Given the description of an element on the screen output the (x, y) to click on. 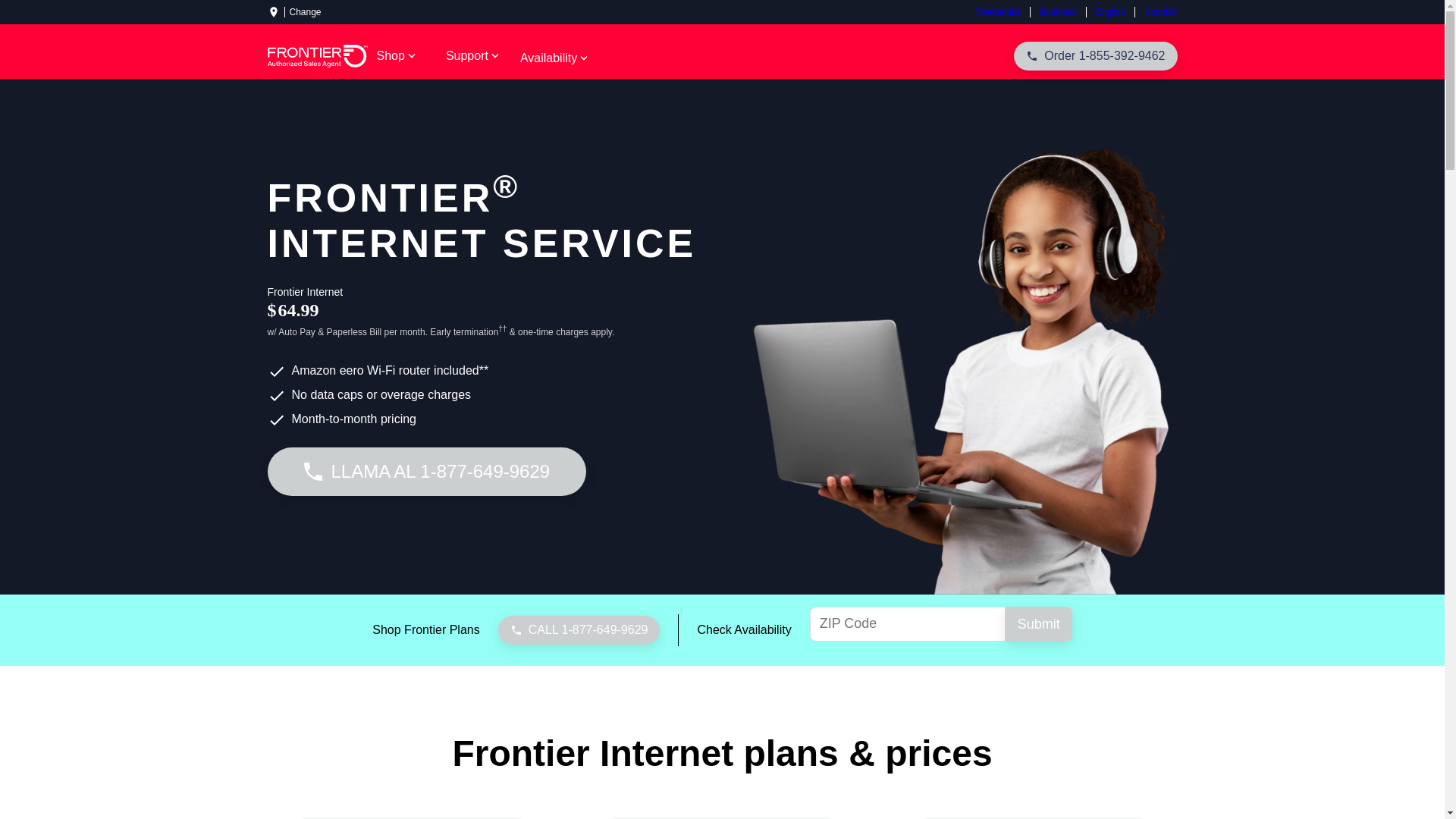
Business (1057, 11)
English (1110, 11)
Residential (1002, 11)
Availability (555, 57)
Spanish (1155, 11)
